Given the description of an element on the screen output the (x, y) to click on. 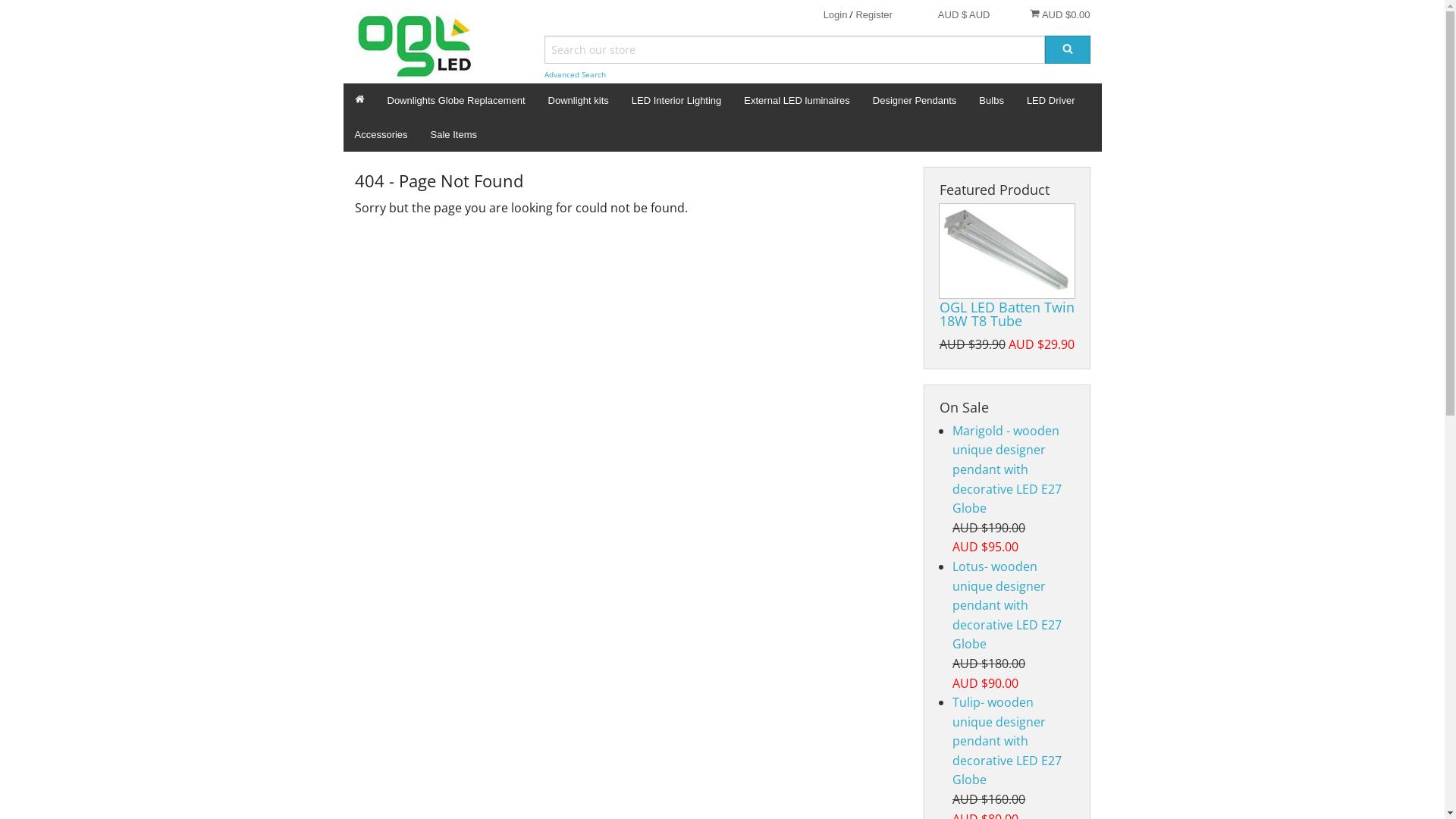
Sale Items Element type: text (453, 134)
Login Element type: text (835, 14)
LED Driver Element type: text (1050, 100)
Designer Pendants Element type: text (914, 100)
Downlight kits Element type: text (578, 100)
Bulbs Element type: text (991, 100)
LED Interior Lighting Element type: text (676, 100)
Register Element type: text (873, 14)
Accessories Element type: text (380, 134)
External LED luminaires Element type: text (796, 100)
AUD $0.00 Element type: text (1059, 14)
Advanced Search Element type: text (574, 74)
OGL LED Batten Twin 18W T8 Tube Element type: hover (1005, 250)
Search Element type: hover (1067, 49)
OGL LED Batten Twin 18W T8 Tube Element type: text (1005, 313)
Search Element type: text (1067, 49)
Home Element type: hover (358, 100)
Downlights Globe Replacement Element type: text (456, 100)
